Given the description of an element on the screen output the (x, y) to click on. 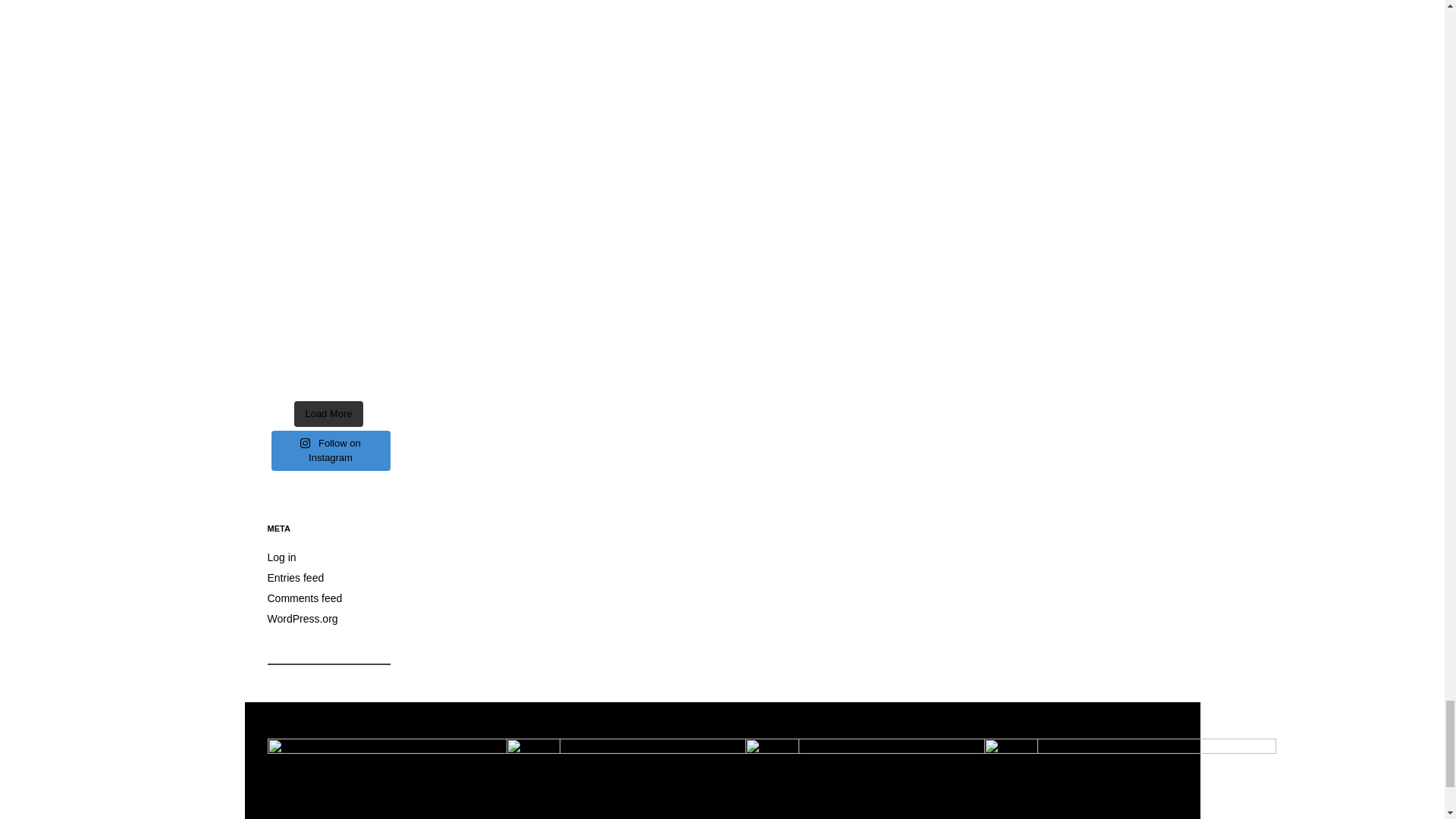
Entries feed (294, 577)
Follow on Instagram (330, 450)
Comments feed (304, 598)
Log in (280, 557)
Load More (328, 413)
